Given the description of an element on the screen output the (x, y) to click on. 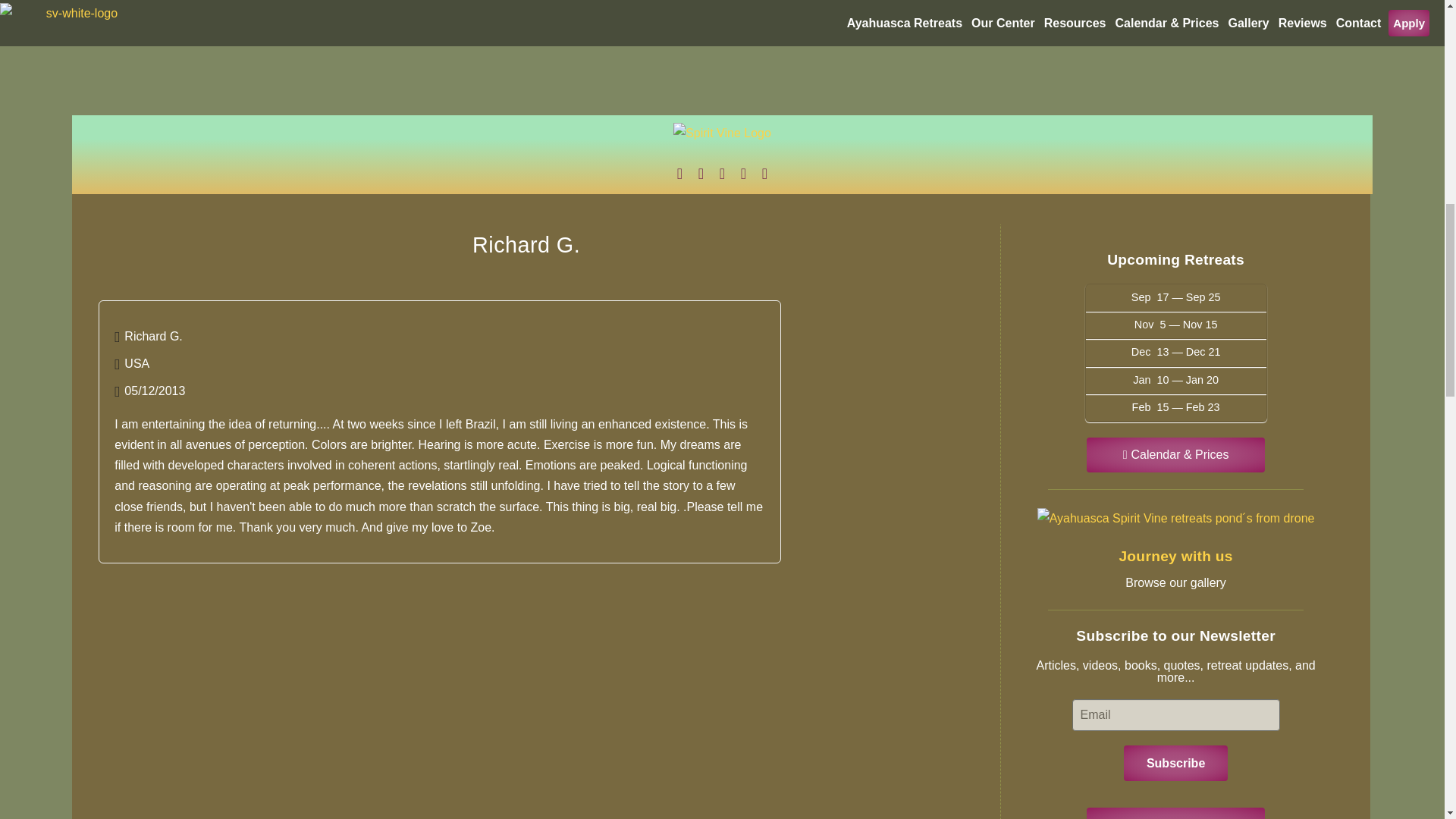
Read reviews of Spirit Vine on TripAdvisor (743, 173)
Follow us on Pinterest (764, 173)
Follow us on Instagram (679, 173)
Watch Spirit Vine Videos on YouTube (721, 173)
Spirit Vine Ayahuasca Retreat Center (722, 137)
